Given the description of an element on the screen output the (x, y) to click on. 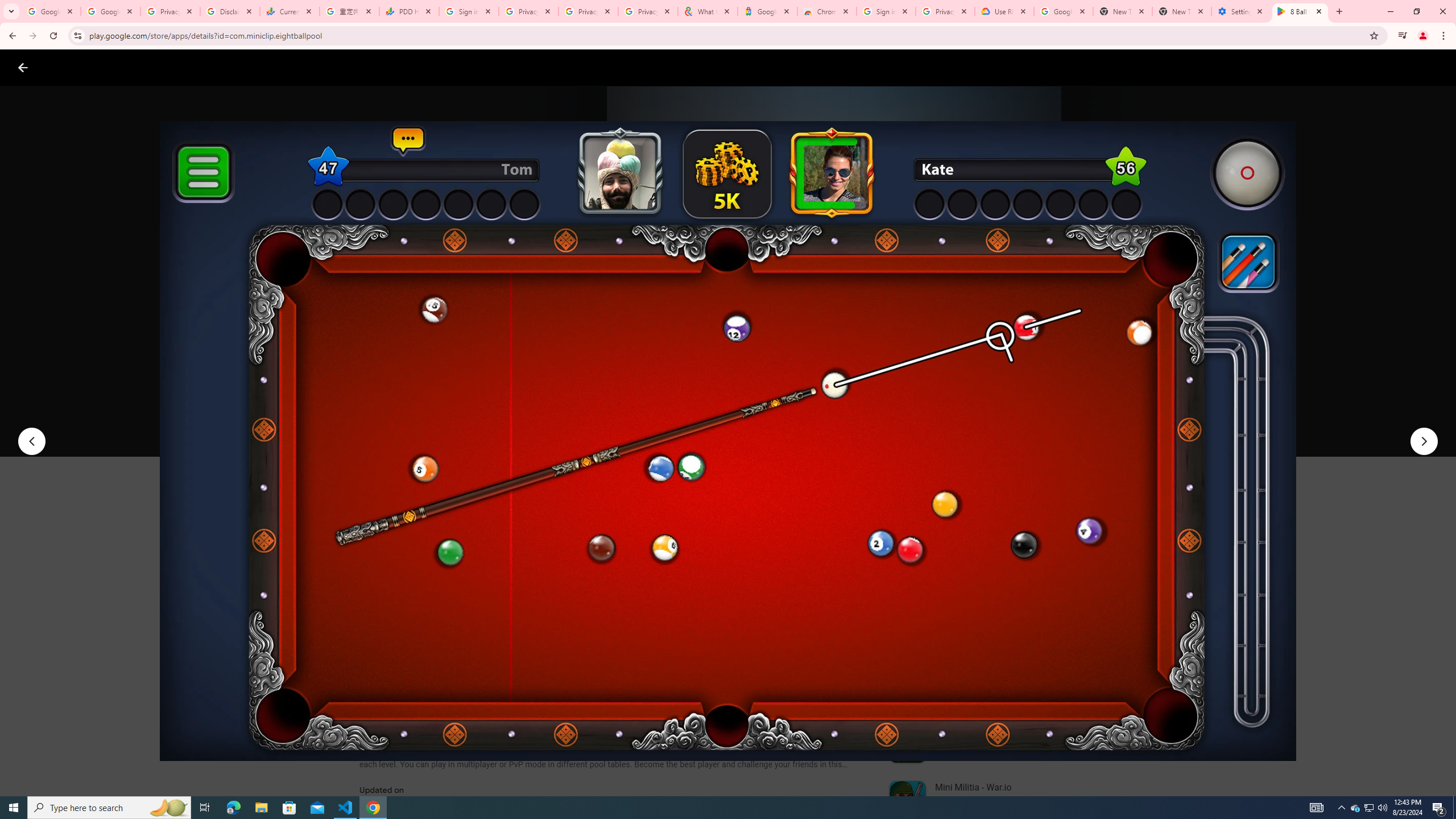
Apps (182, 67)
Settings - System (1241, 11)
Expand (978, 497)
See more information on About this game (472, 681)
PDD Holdings Inc - ADR (PDD) Price & News - Google Finance (409, 11)
Sign in - Google Accounts (468, 11)
Google (767, 11)
Privacy Checkup (647, 11)
